Given the description of an element on the screen output the (x, y) to click on. 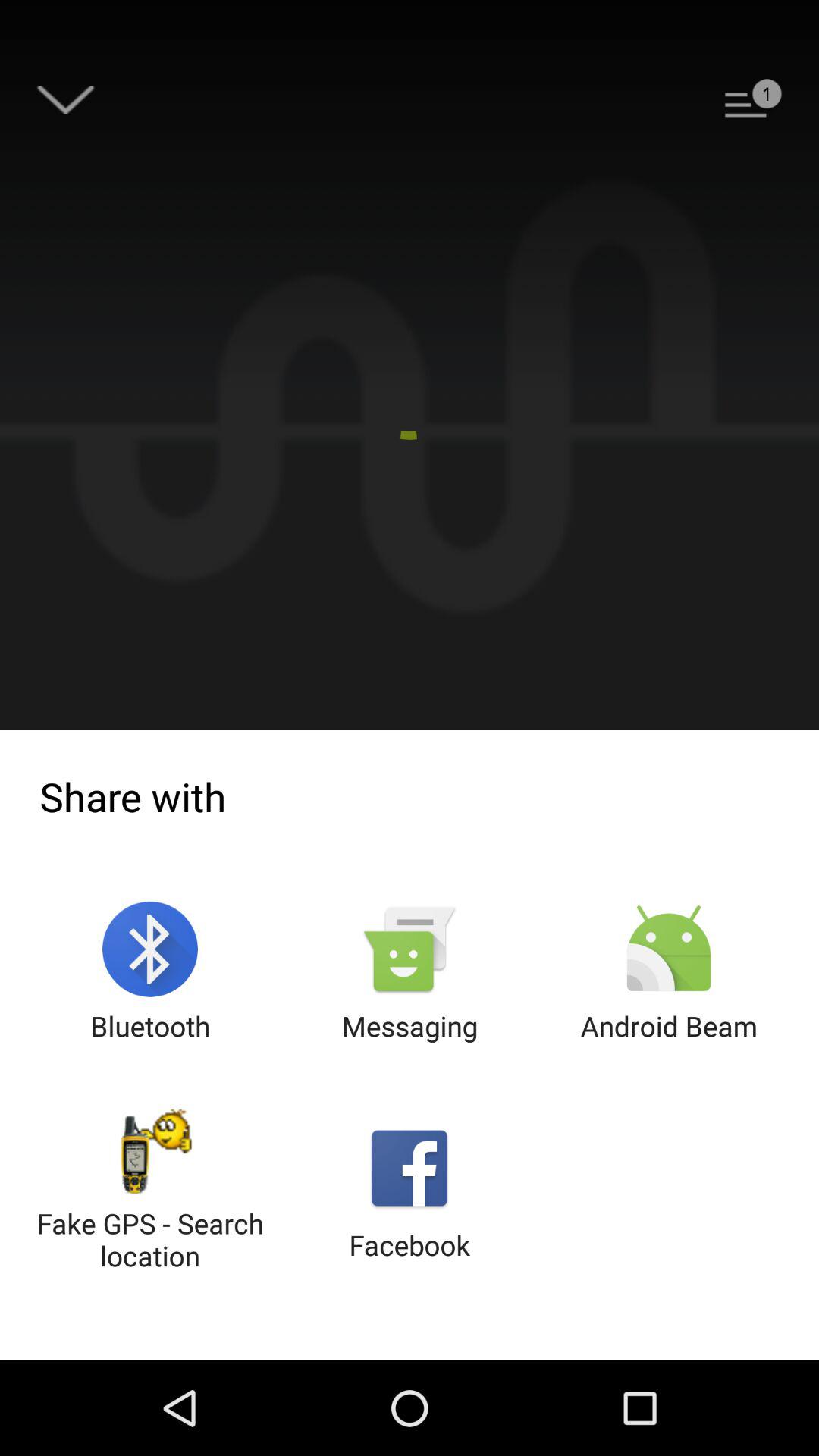
open icon above the fake gps search (150, 972)
